Given the description of an element on the screen output the (x, y) to click on. 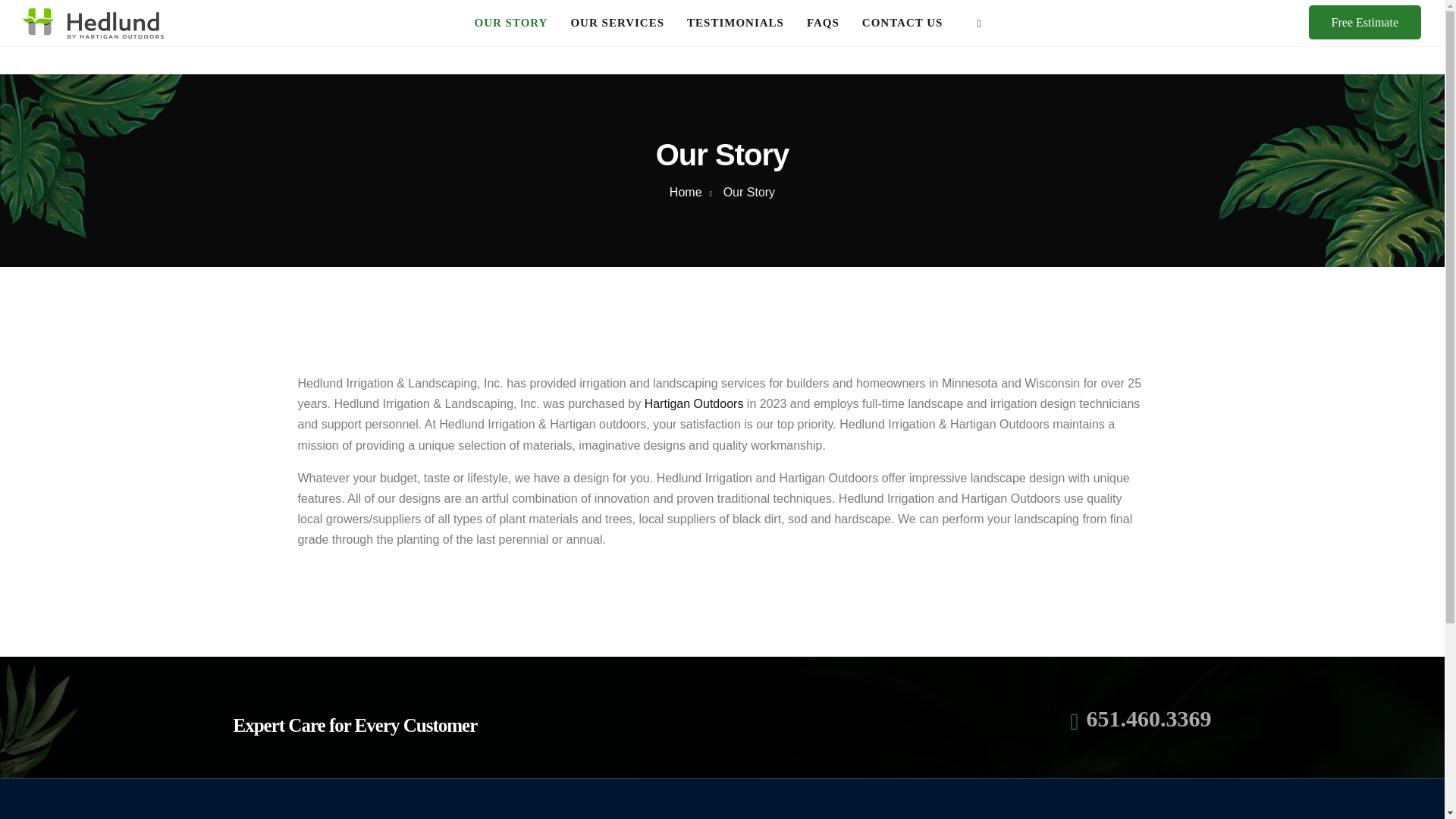
651.460.3369 (1148, 718)
OUR SERVICES (616, 22)
Home (685, 192)
CONTACT US (902, 22)
FAQS (823, 22)
Free Estimate (1364, 22)
Hartigan Outdoors (694, 403)
OUR STORY (510, 22)
TESTIMONIALS (735, 22)
